Given the description of an element on the screen output the (x, y) to click on. 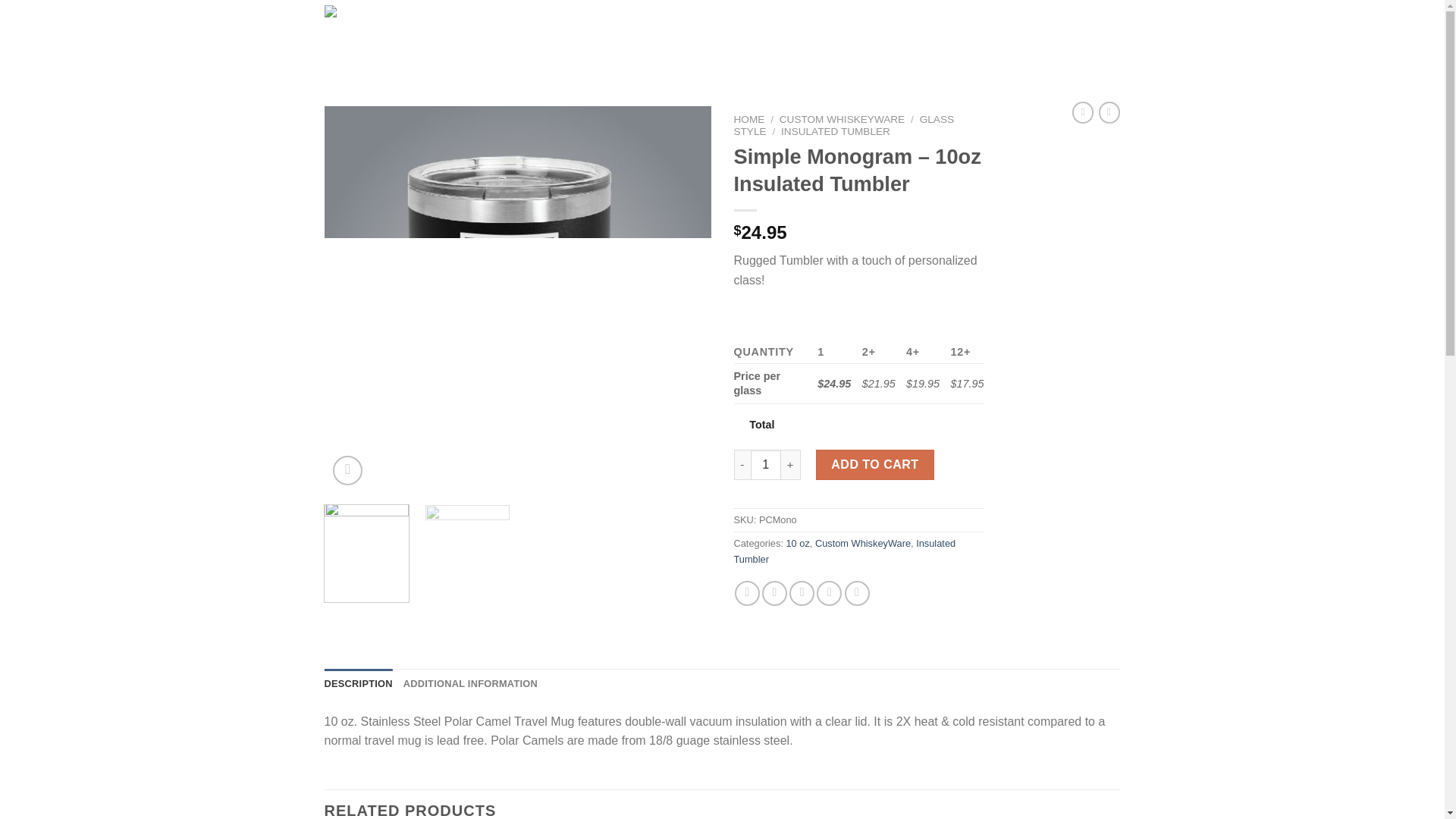
Pin on Pinterest (828, 593)
CUSTOM WHISKEYWARE (751, 37)
Email to a Friend (801, 593)
HOME (510, 37)
HOME (749, 119)
ABOUT US (853, 37)
Share on Facebook (747, 593)
Share on LinkedIn (856, 593)
Whiskey Ware - Premium Barware (386, 38)
Share on Twitter (774, 593)
